Given the description of an element on the screen output the (x, y) to click on. 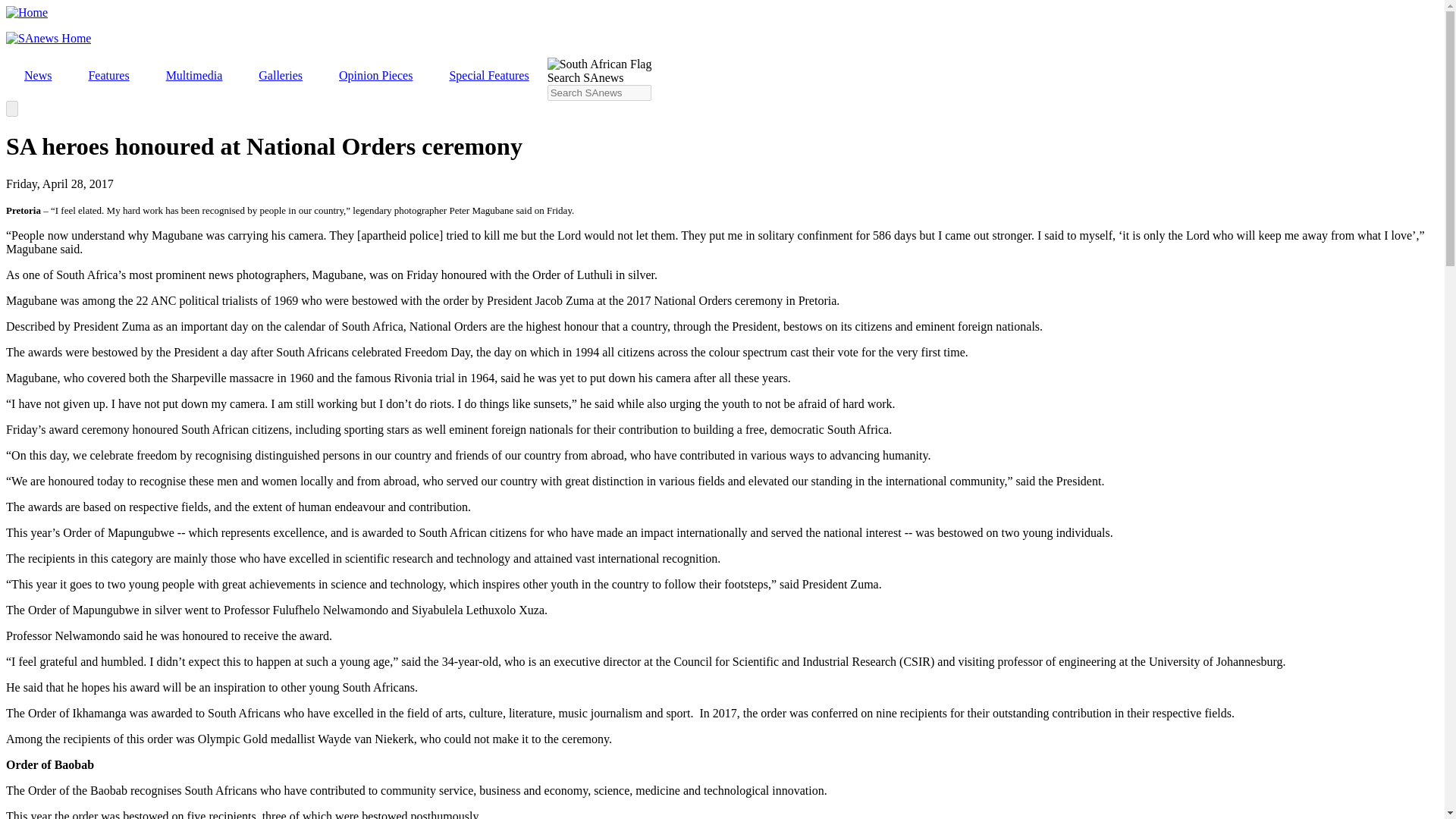
Special Features (488, 75)
Opinion Pieces (375, 75)
Features (108, 75)
Multimedia (194, 75)
News (37, 75)
Enter the terms you wish to search for. (598, 92)
Galleries (280, 75)
Home (26, 11)
